Given the description of an element on the screen output the (x, y) to click on. 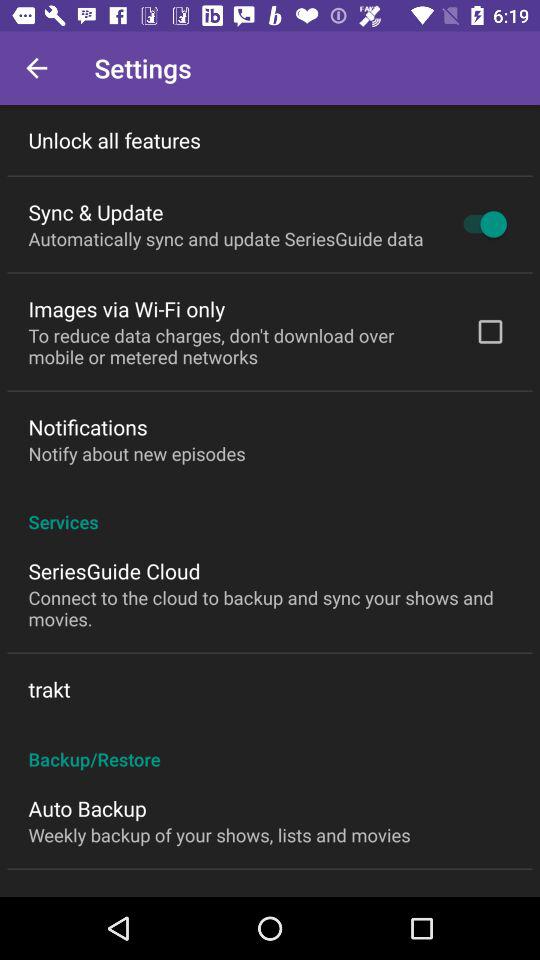
turn on icon above the notify about new item (87, 426)
